Given the description of an element on the screen output the (x, y) to click on. 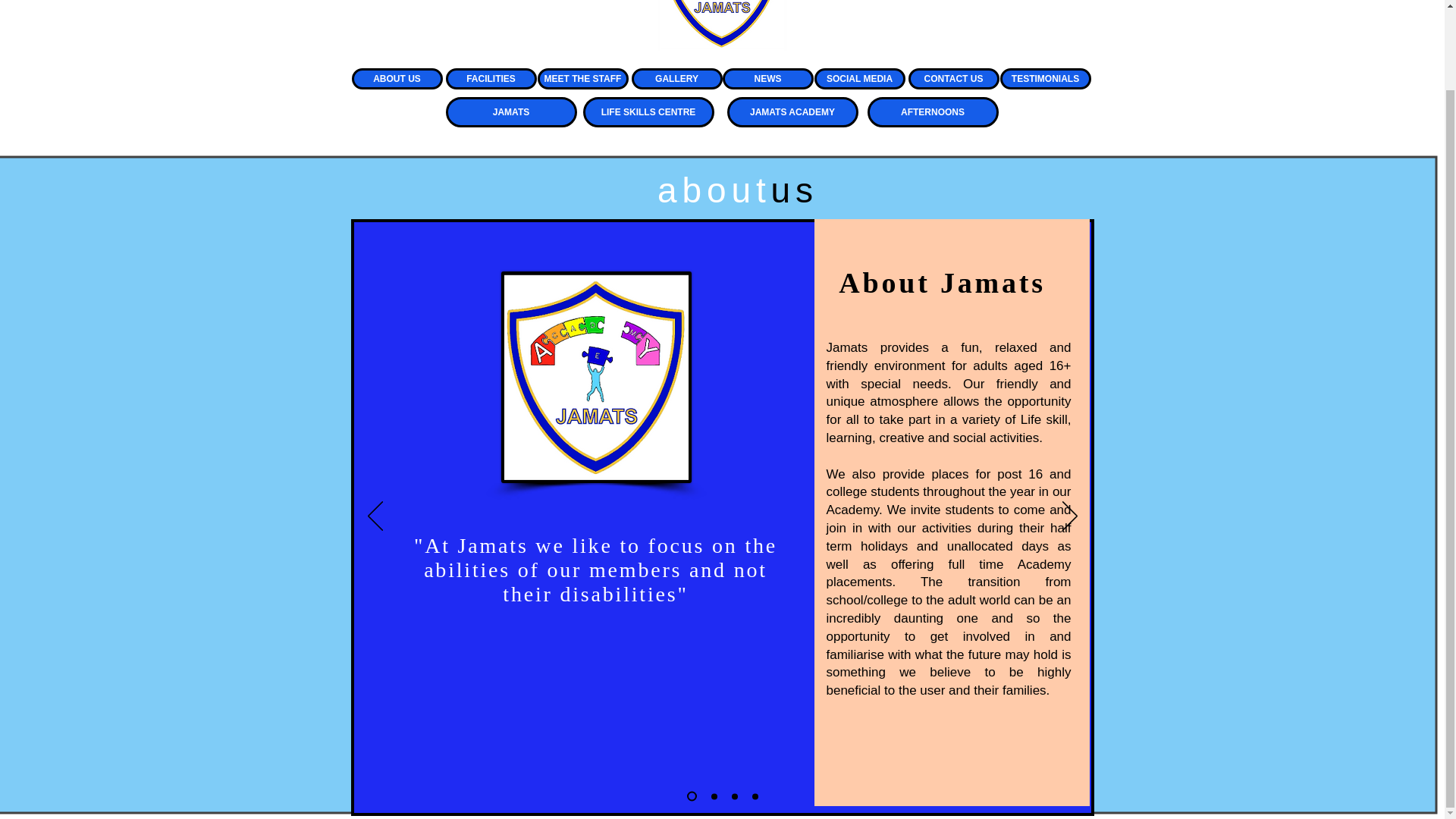
CONTACT US (953, 78)
TESTIMONIALS (1044, 78)
JAMATS ACADEMY (791, 112)
ABOUT US (397, 78)
Picture1.png (595, 377)
MEET THE STAFF (582, 78)
JAMATS (510, 112)
AFTERNOONS (932, 112)
SOCIAL MEDIA (859, 78)
LIFE SKILLS CENTRE (647, 112)
